Given the description of an element on the screen output the (x, y) to click on. 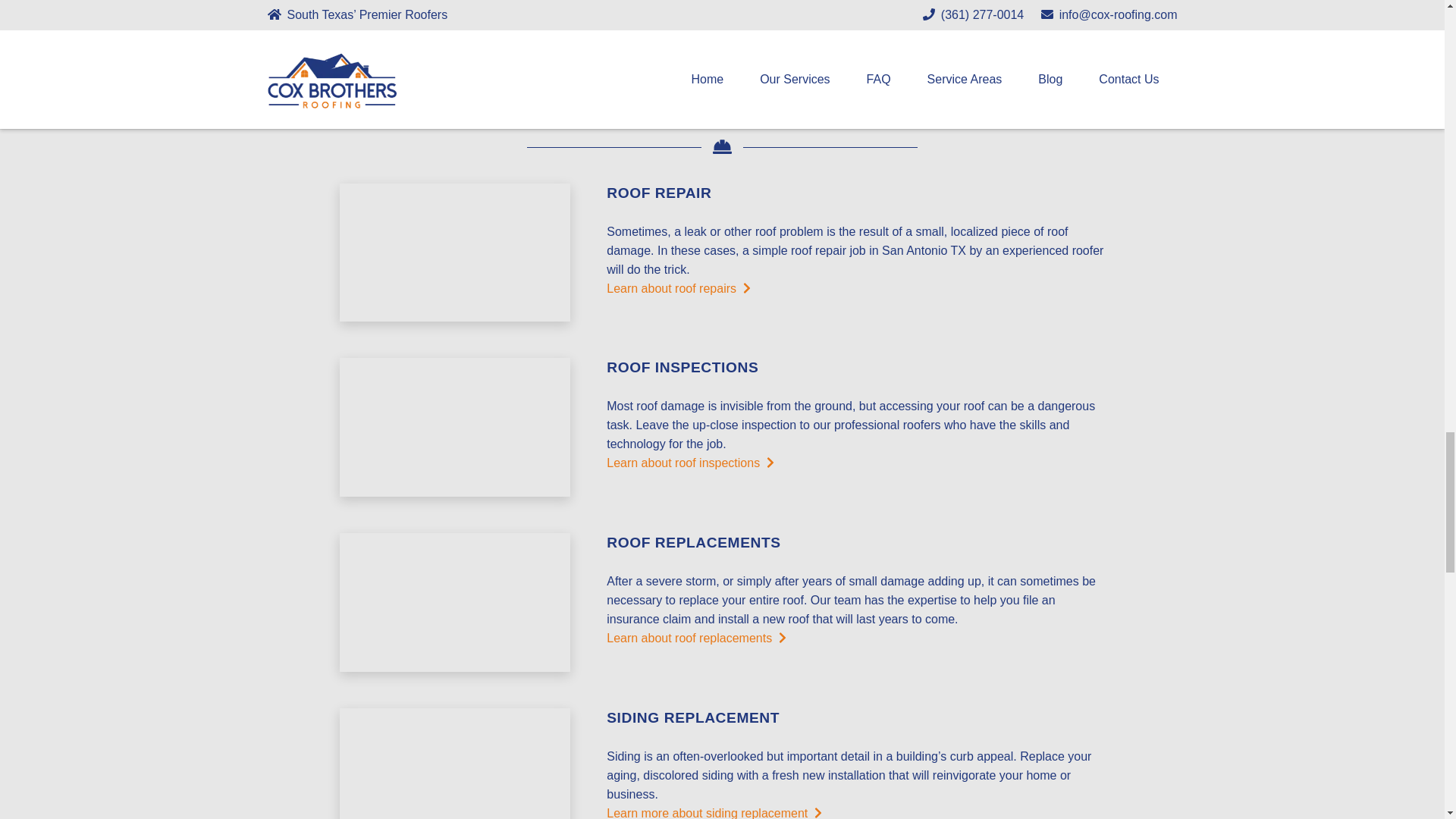
Learn about roof repairs   (679, 287)
Learn about roof inspections  (690, 462)
